Given the description of an element on the screen output the (x, y) to click on. 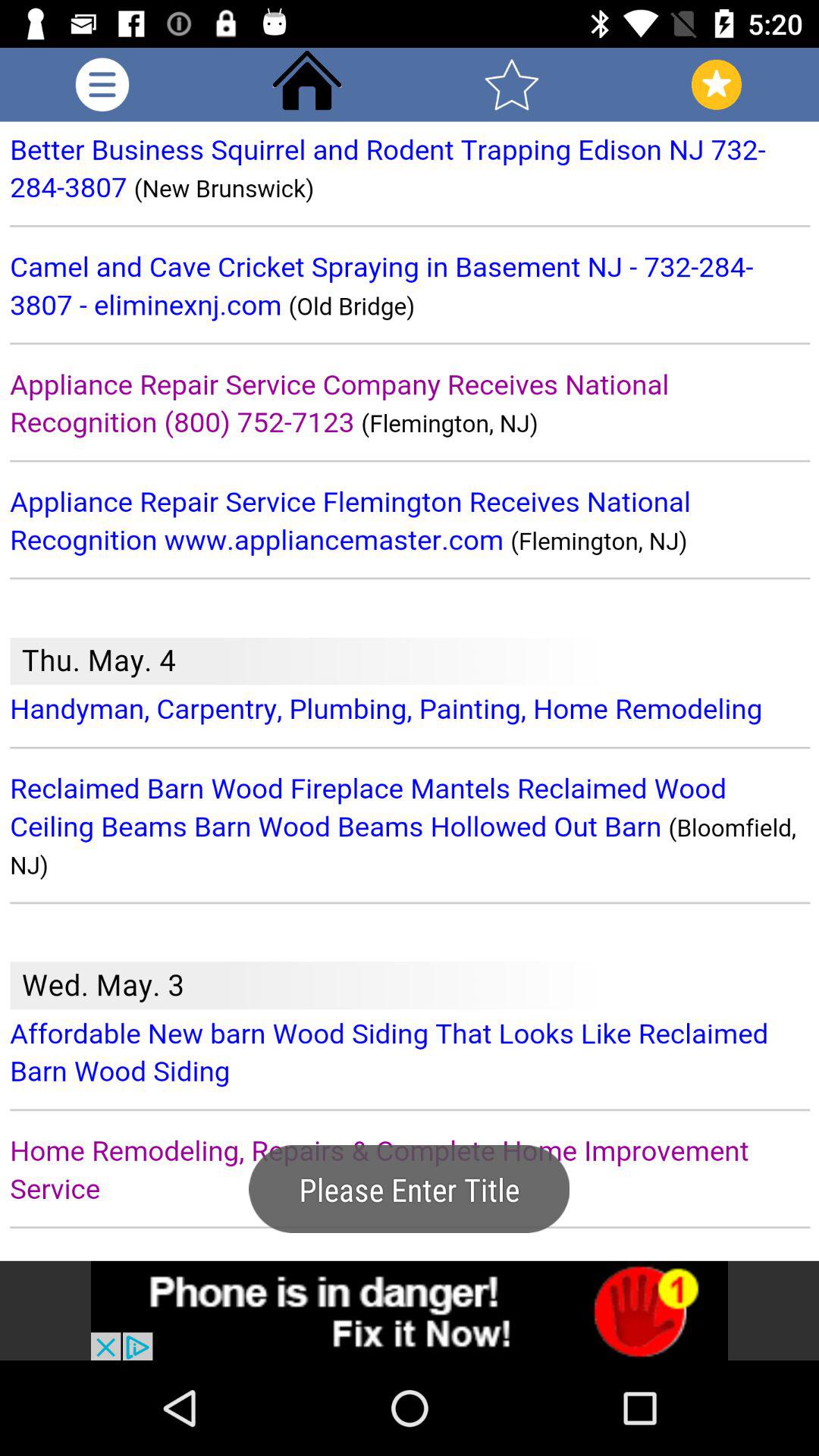
go home (306, 84)
